Given the description of an element on the screen output the (x, y) to click on. 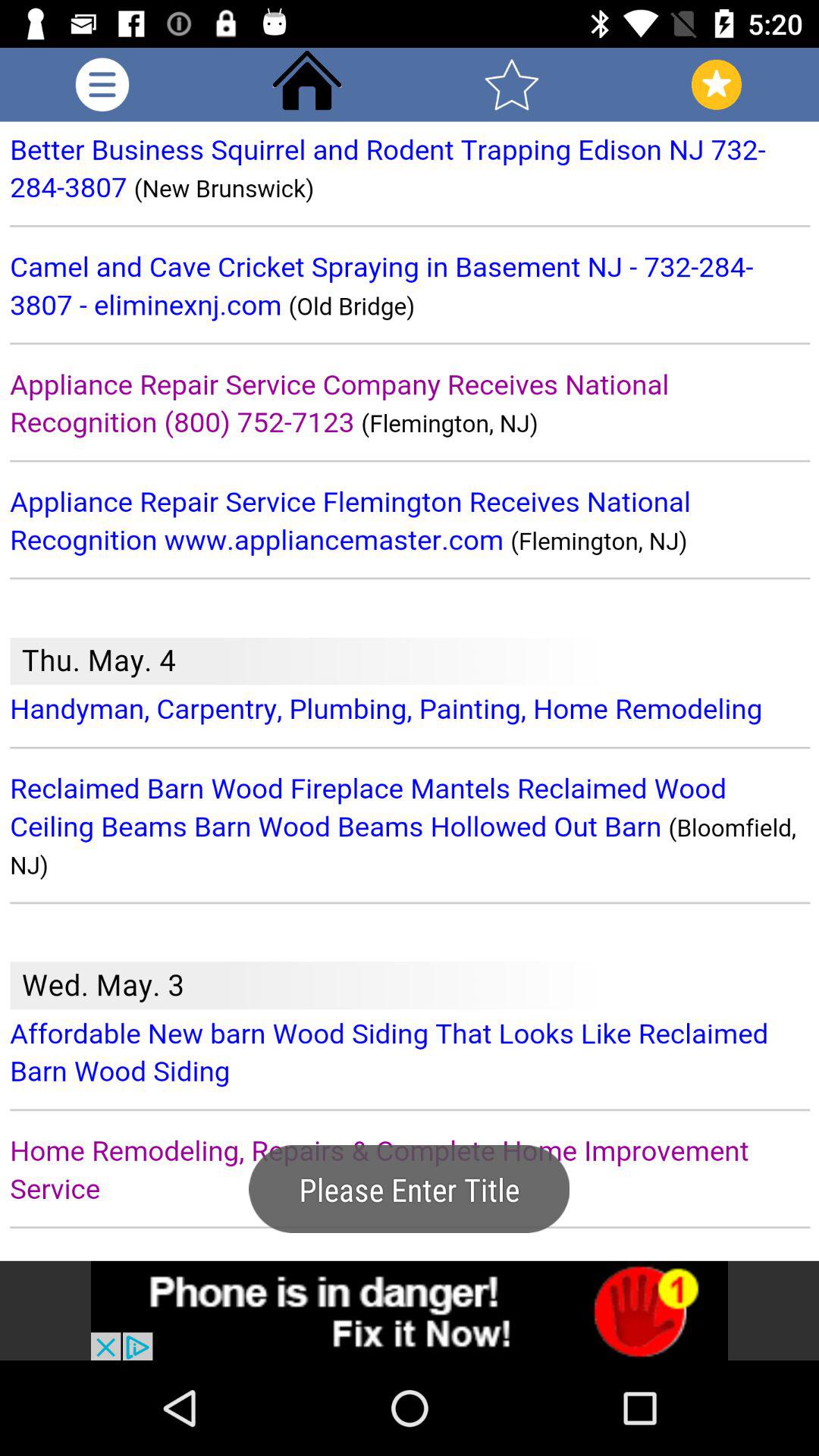
go home (306, 84)
